Given the description of an element on the screen output the (x, y) to click on. 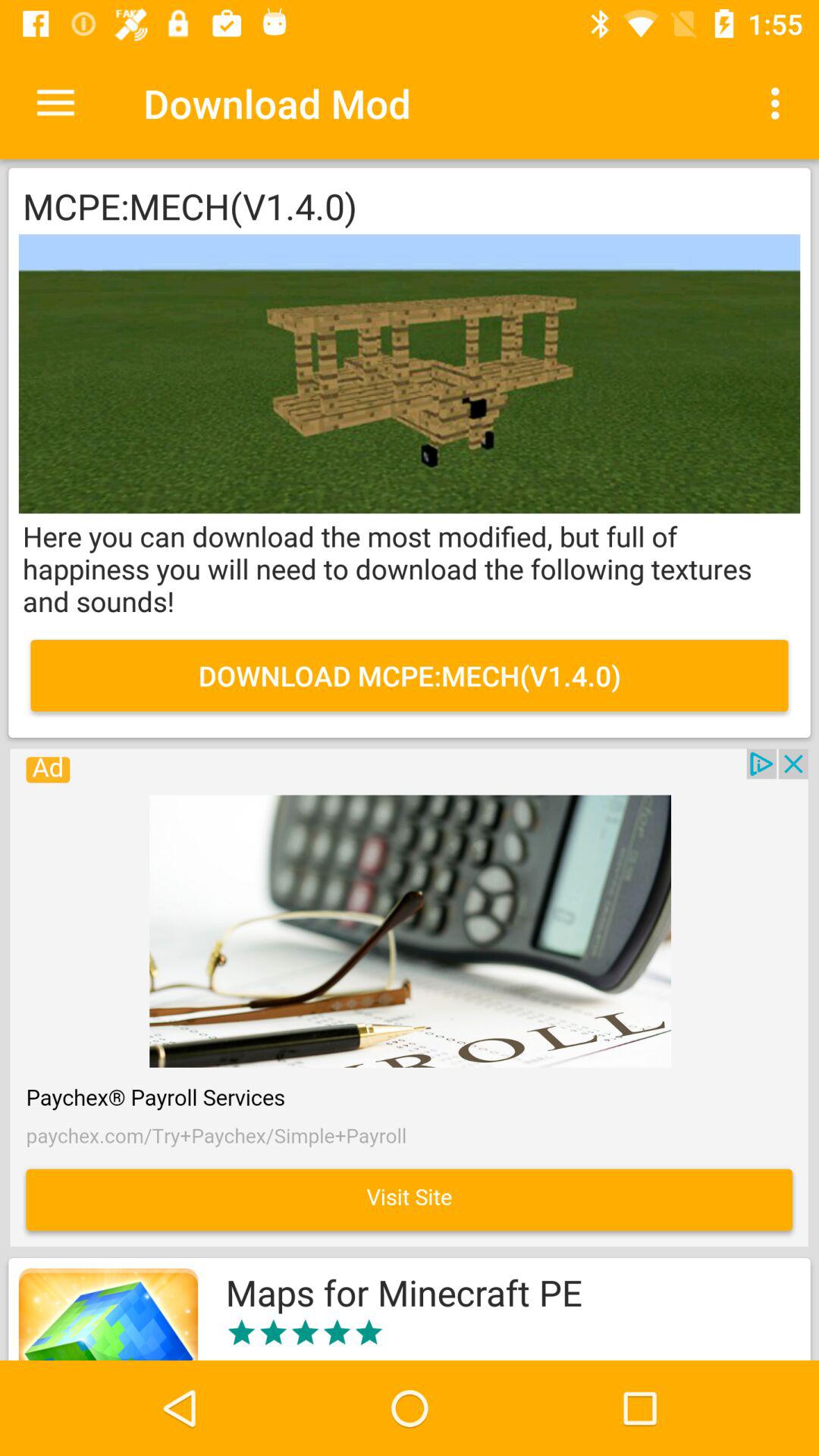
advertisement (409, 997)
